Given the description of an element on the screen output the (x, y) to click on. 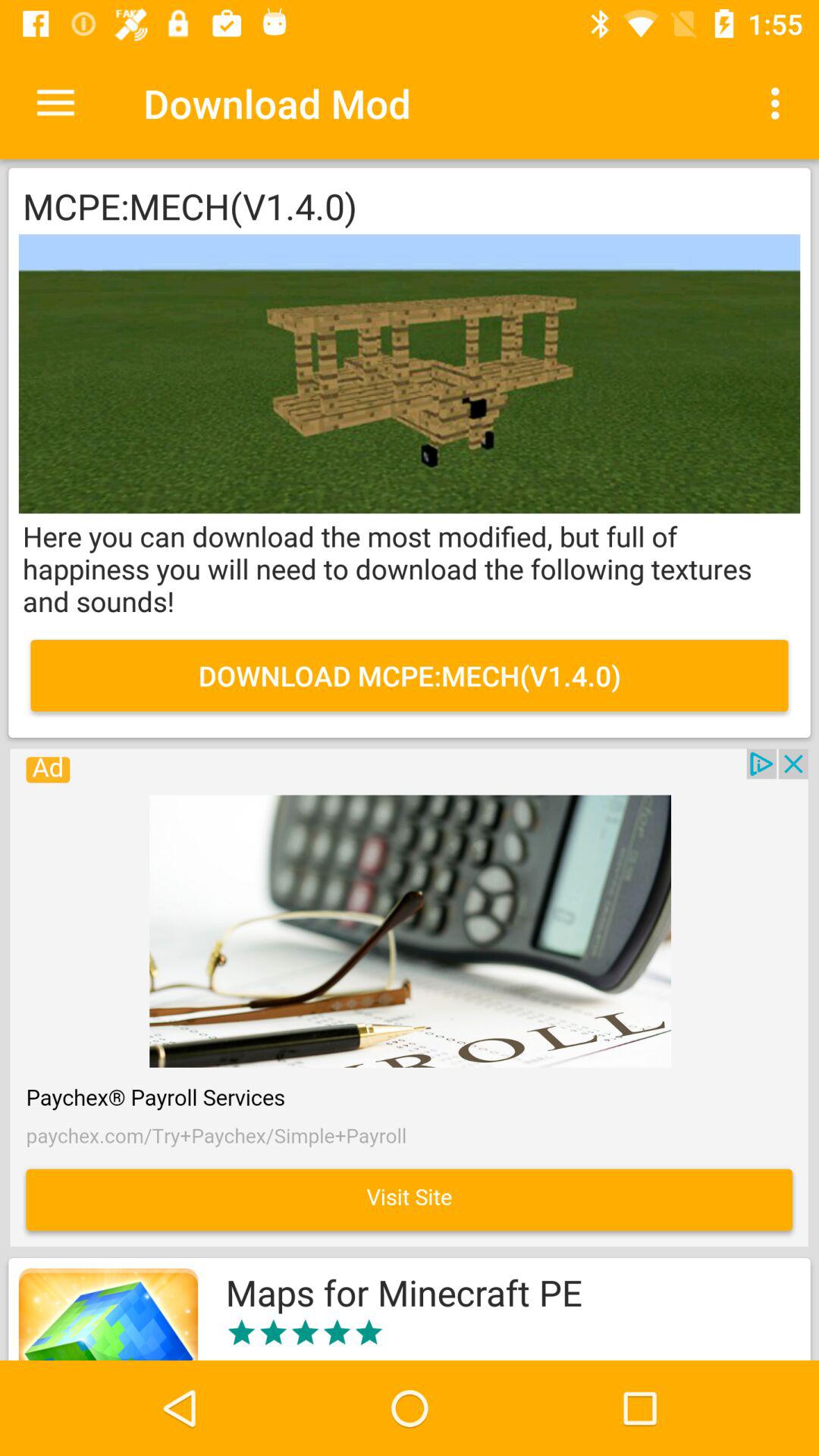
advertisement (409, 997)
